Given the description of an element on the screen output the (x, y) to click on. 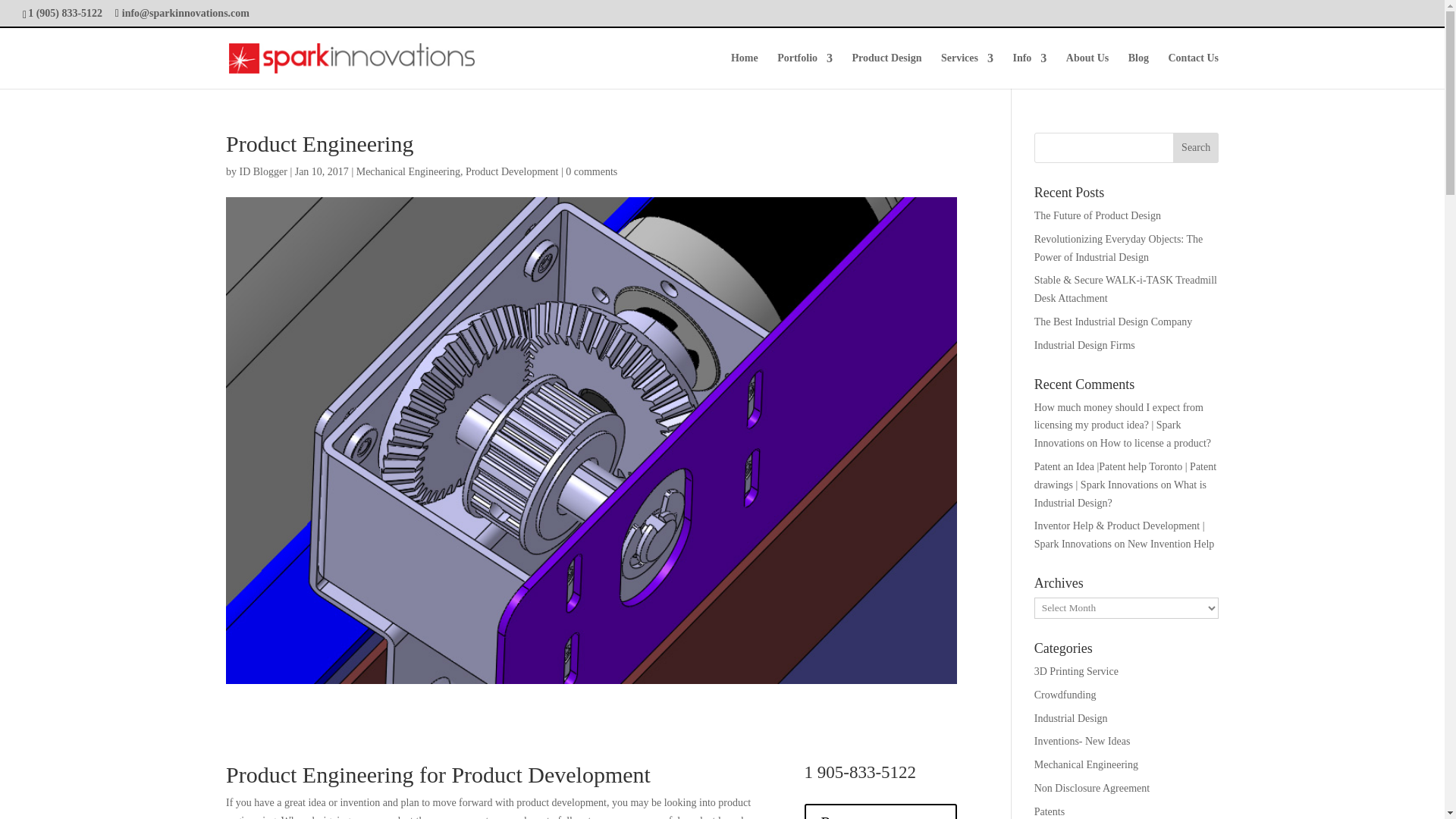
Portfolio (804, 70)
Info (1028, 70)
Posts by ID Blogger (263, 171)
Product Design (886, 70)
About Us (1086, 70)
Contact Us (1192, 70)
Services (966, 70)
Search (1195, 147)
